Given the description of an element on the screen output the (x, y) to click on. 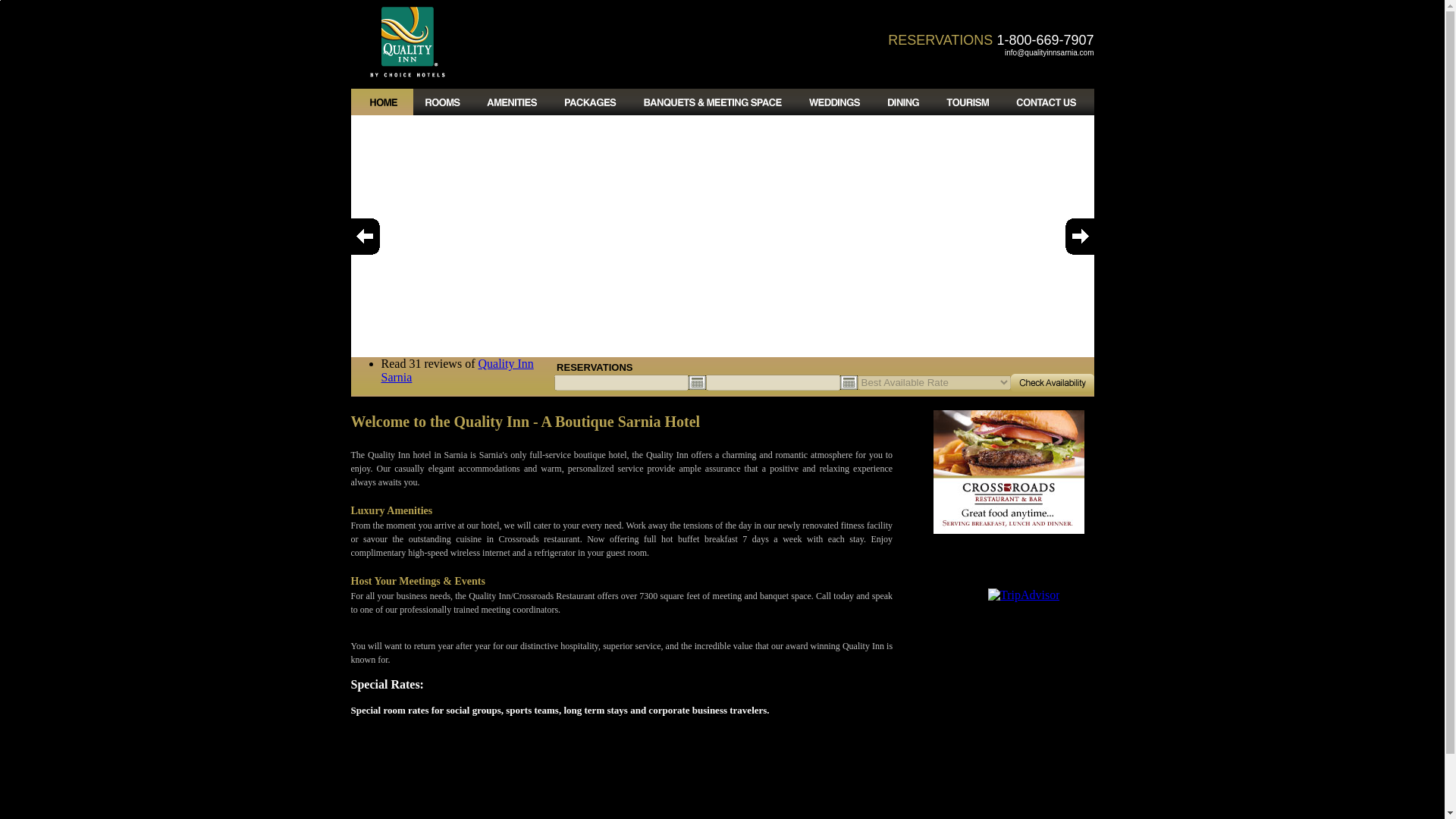
Crossroads Great Food Anytime (1008, 471)
Read 31 reviews of Quality Inn Sarnia (451, 370)
Previous Image (369, 236)
Reserve Your Quality Inn Sarnia Hotel Room Online  (1051, 383)
Quality Inn Sarnia (456, 370)
Next Image (1074, 236)
Visit Crossroads Sarnia (1008, 529)
